Given the description of an element on the screen output the (x, y) to click on. 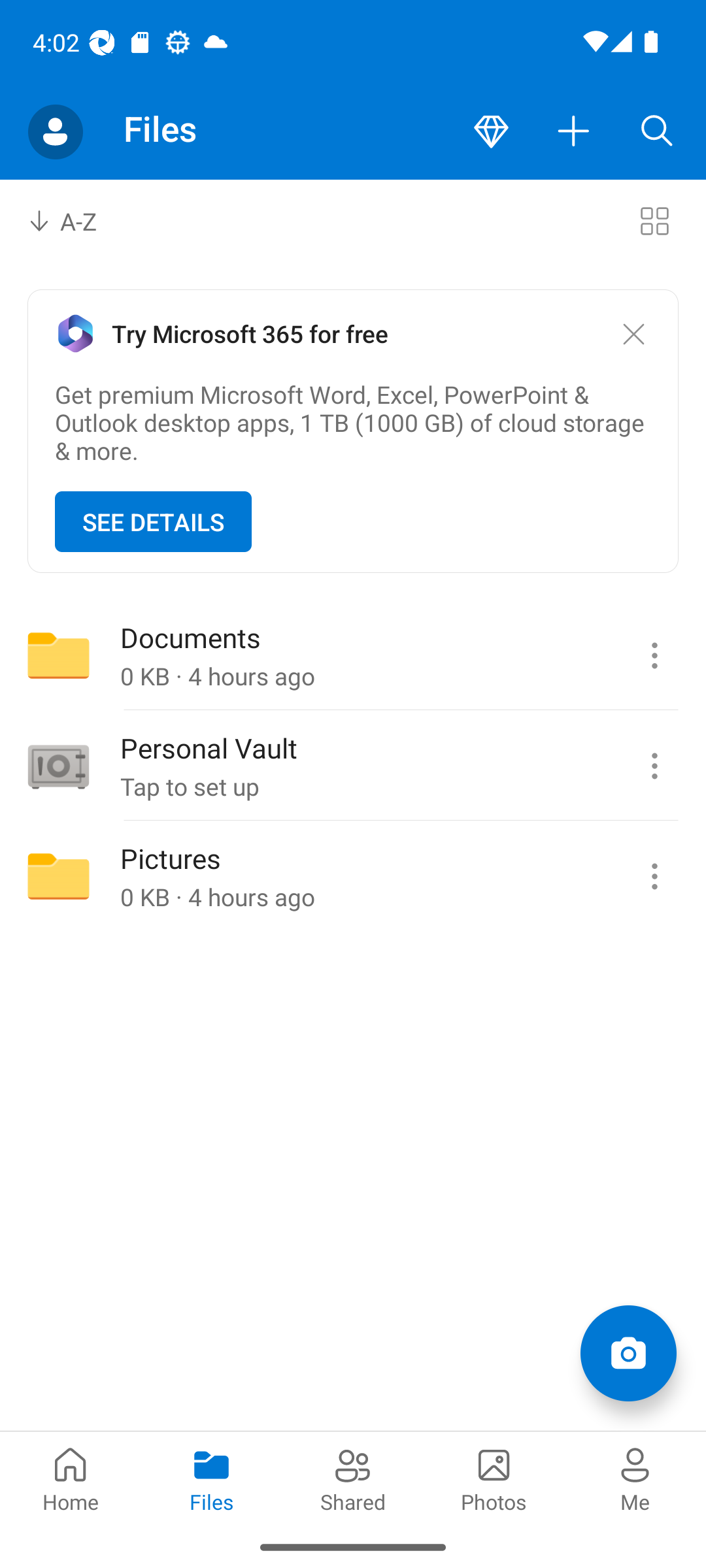
Account switcher (55, 131)
Premium button (491, 131)
More actions button (574, 131)
Search button (656, 131)
A-Z Sort by combo box, sort by name, A to Z (76, 220)
Switch to tiles view (654, 220)
Close (633, 334)
SEE DETAILS (153, 520)
Documents commands (654, 655)
Personal Vault commands (654, 765)
Pictures commands (654, 876)
Add items Scan (628, 1352)
Home pivot Home (70, 1478)
Shared pivot Shared (352, 1478)
Photos pivot Photos (493, 1478)
Me pivot Me (635, 1478)
